Given the description of an element on the screen output the (x, y) to click on. 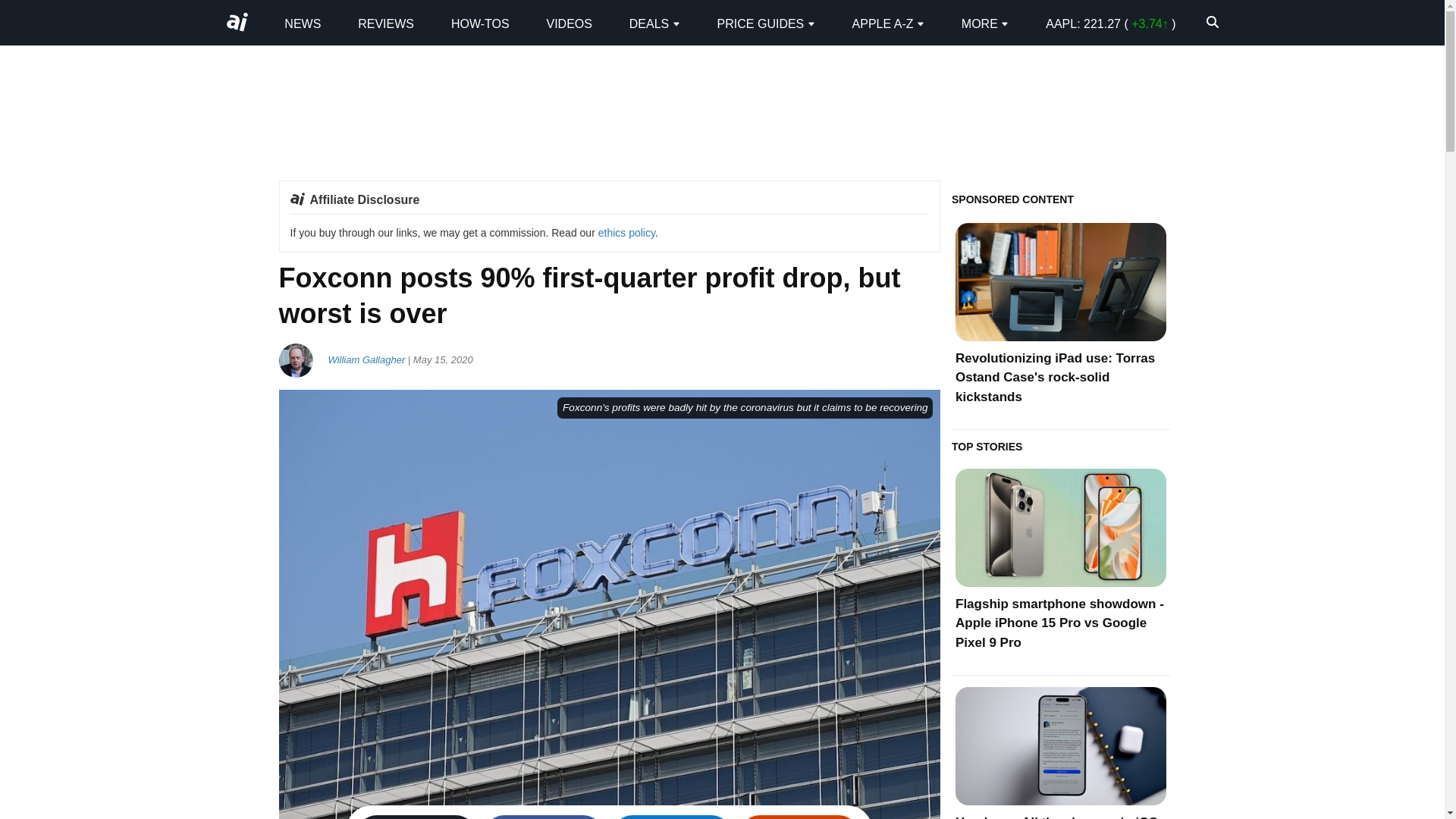
VIDEOS (568, 23)
News (301, 23)
REVIEWS (385, 23)
Reviews (385, 23)
HOW-TOS (480, 23)
NEWS (301, 23)
How-Tos (480, 23)
Videos (568, 23)
